Given the description of an element on the screen output the (x, y) to click on. 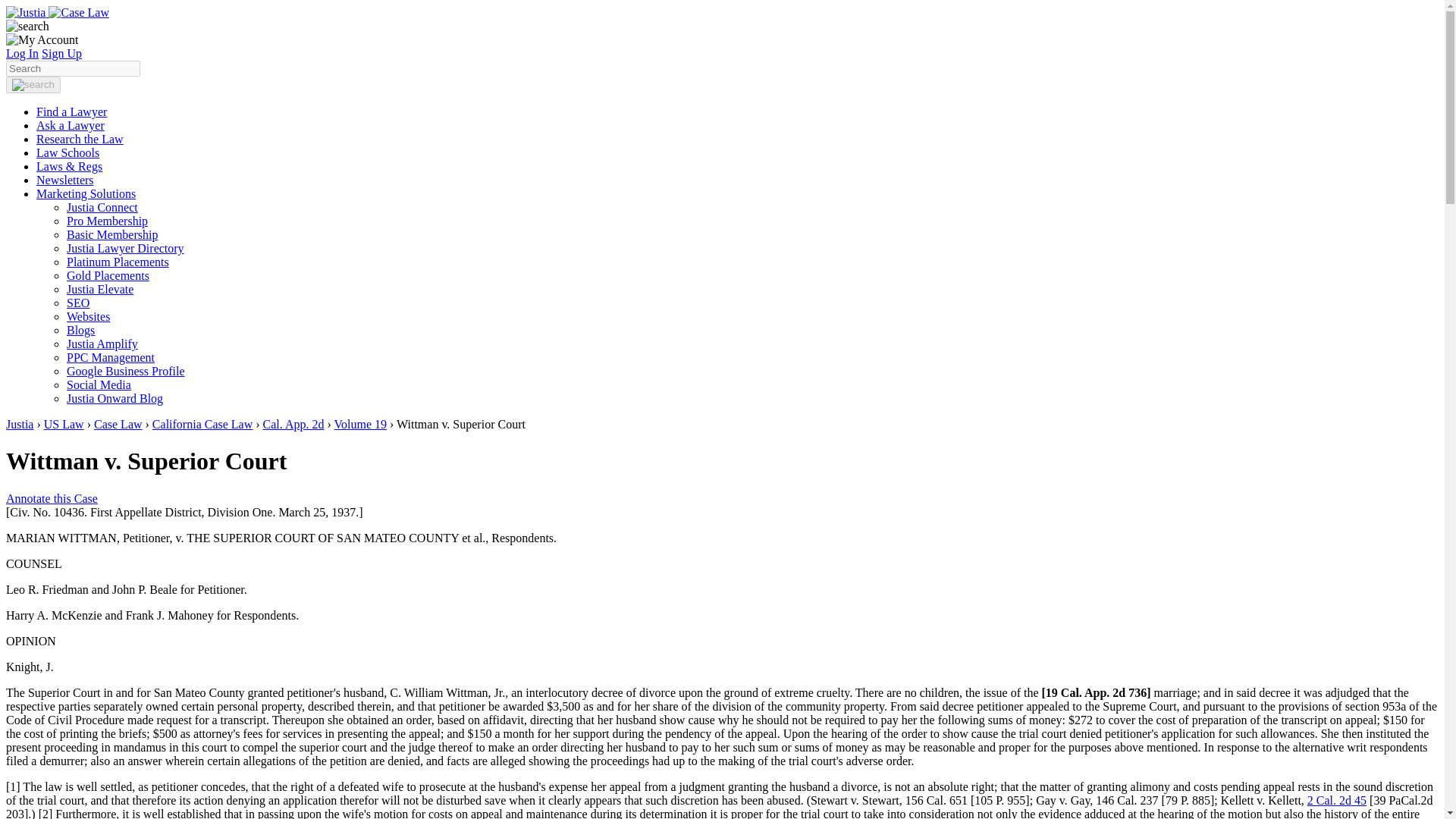
SEO (77, 302)
Justia (57, 11)
Research the Law (79, 138)
PPC Management (110, 357)
Justia Elevate (99, 288)
2 Cal. 2d 45 (1337, 799)
Sign Up (61, 52)
Websites (88, 316)
Annotate this Case (51, 498)
Marketing Solutions (85, 193)
Case Law (118, 423)
Log In (22, 52)
Justia Amplify (102, 343)
Ask a Lawyer (70, 124)
Blogs (80, 329)
